Given the description of an element on the screen output the (x, y) to click on. 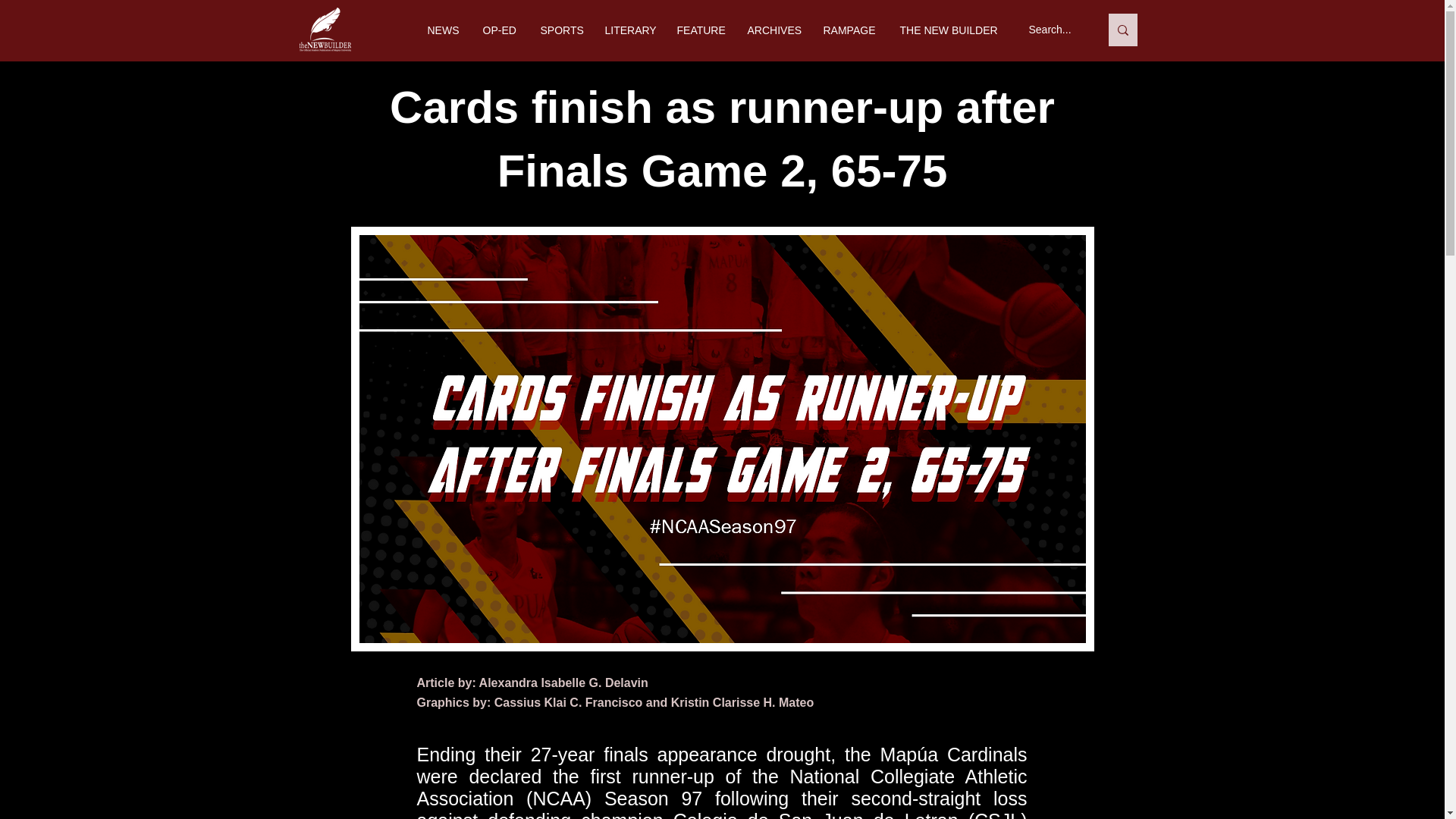
RAMPAGE (849, 29)
OP-ED (500, 29)
ARCHIVES (772, 29)
THE NEW BUILDER (948, 29)
NEWS (442, 29)
FEATURE (700, 29)
SPORTS (561, 29)
LITERARY (628, 29)
